Given the description of an element on the screen output the (x, y) to click on. 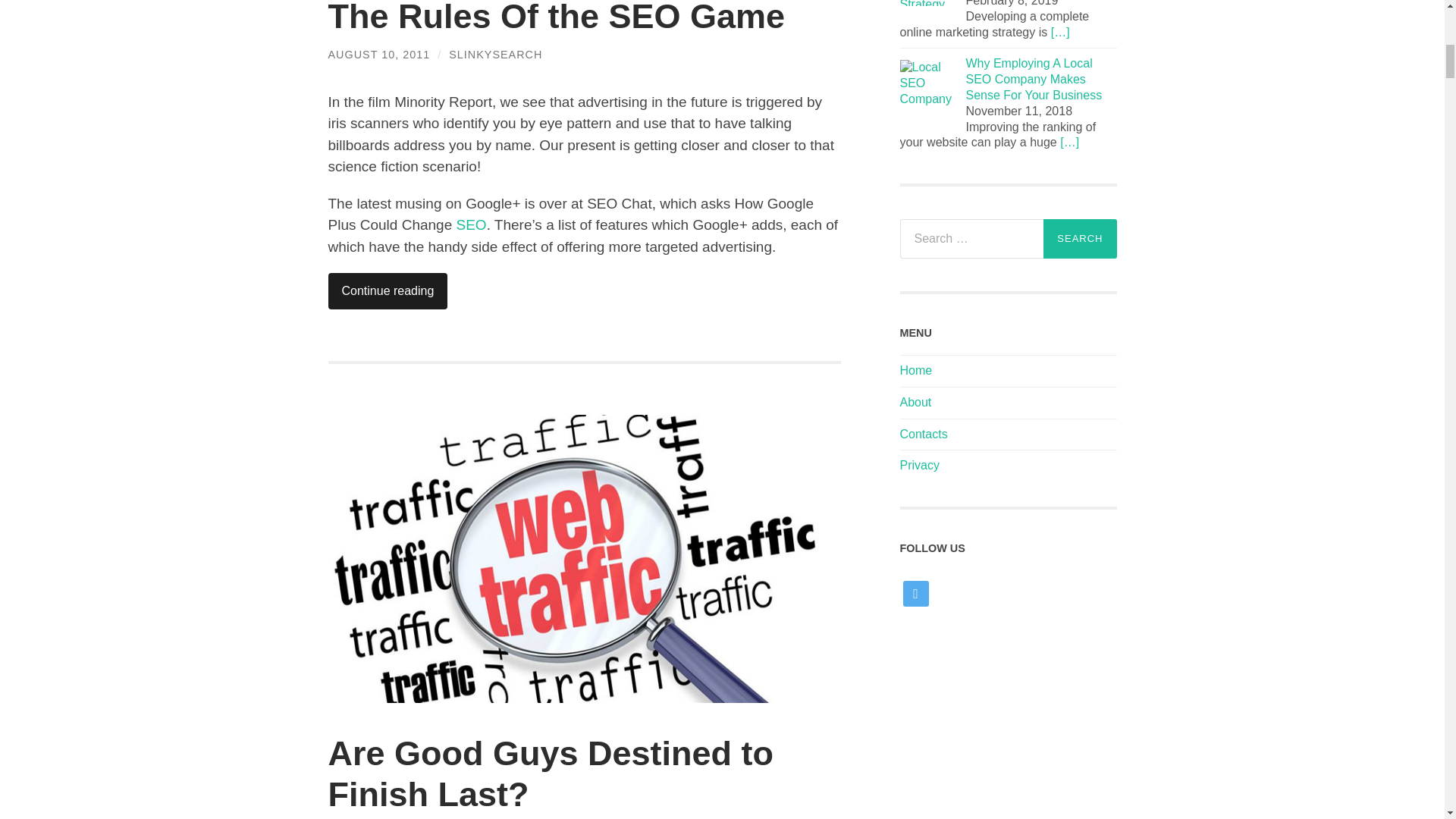
SLINKYSEARCH (494, 54)
Posts by SlinkySearch (494, 54)
SEO (471, 224)
Search (1079, 238)
Are Good Guys Destined to Finish Last? (550, 773)
AUGUST 10, 2011 (378, 54)
Search (1079, 238)
Continue reading (386, 290)
